Given the description of an element on the screen output the (x, y) to click on. 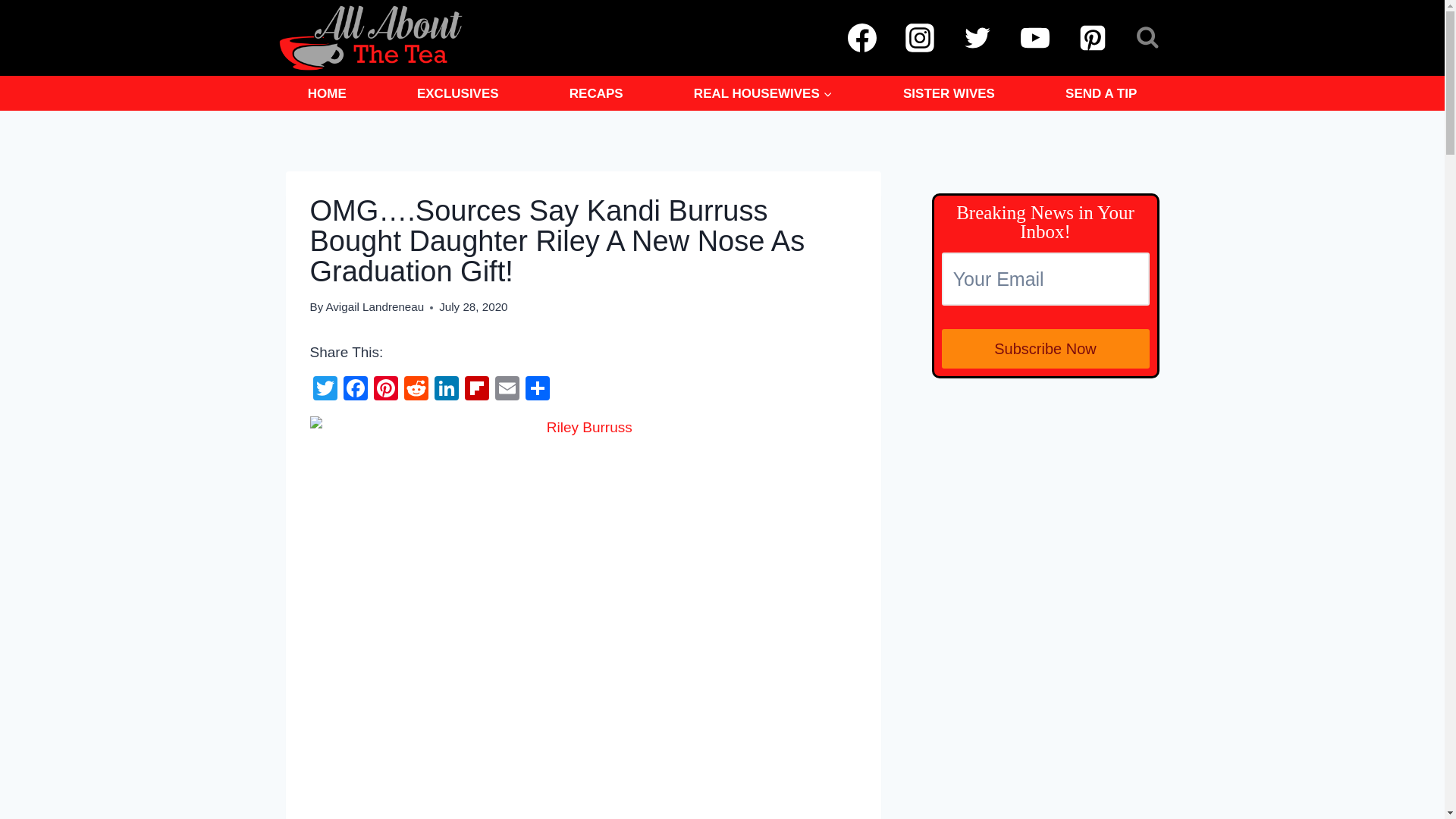
SEND A TIP (1100, 93)
Twitter (323, 389)
LinkedIn (445, 389)
REAL HOUSEWIVES (762, 93)
LinkedIn (445, 389)
Flipboard (476, 389)
Facebook (354, 389)
Pinterest (384, 389)
Twitter (323, 389)
Flipboard (476, 389)
